Given the description of an element on the screen output the (x, y) to click on. 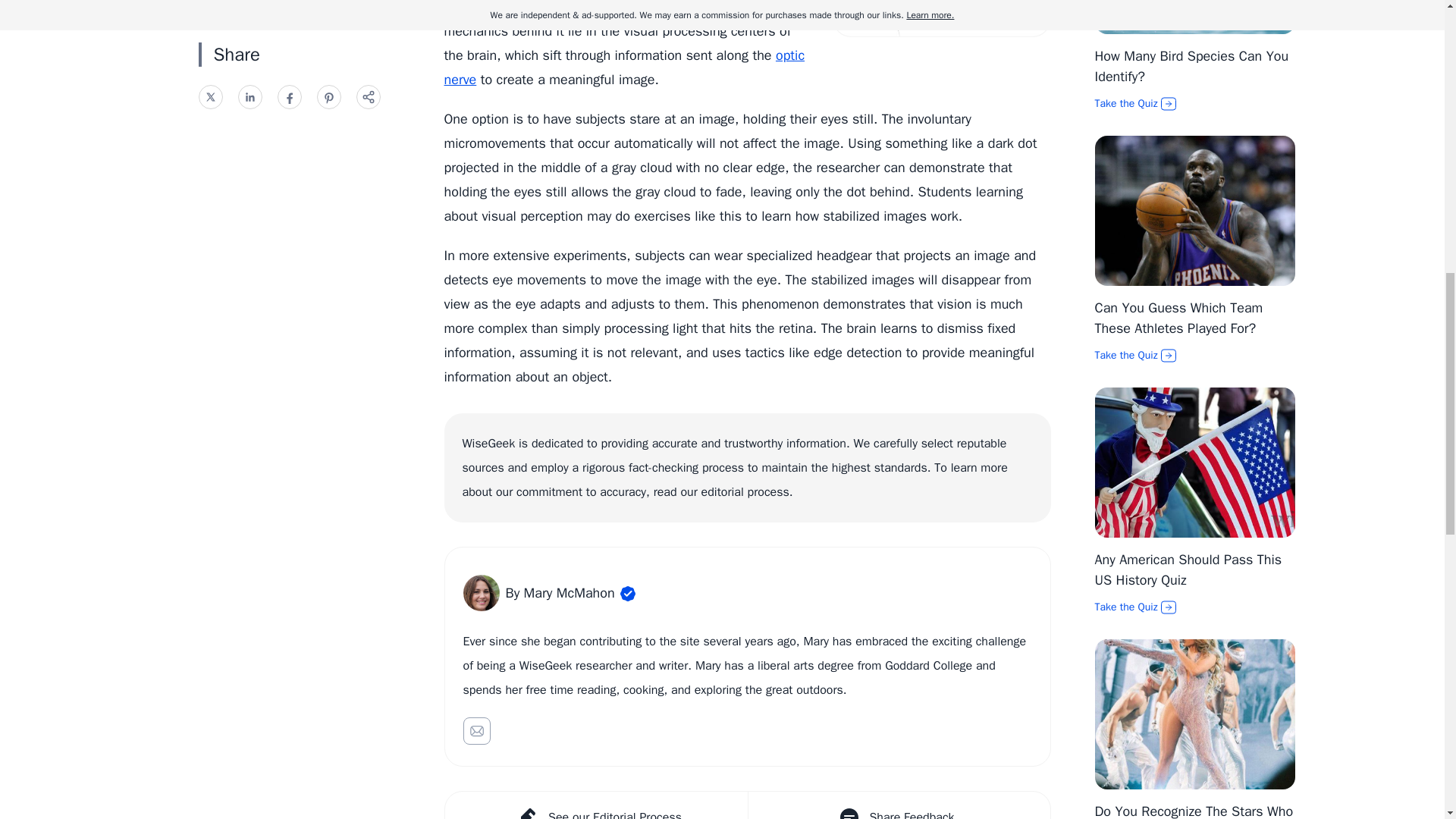
Share Feedback (898, 805)
optic nerve (624, 66)
See our Editorial Process (595, 805)
Take the Quiz (1194, 103)
How Many Bird Species Can You Identify? (1191, 66)
Can You Guess Which Team These Athletes Played For? (1178, 317)
